Given the description of an element on the screen output the (x, y) to click on. 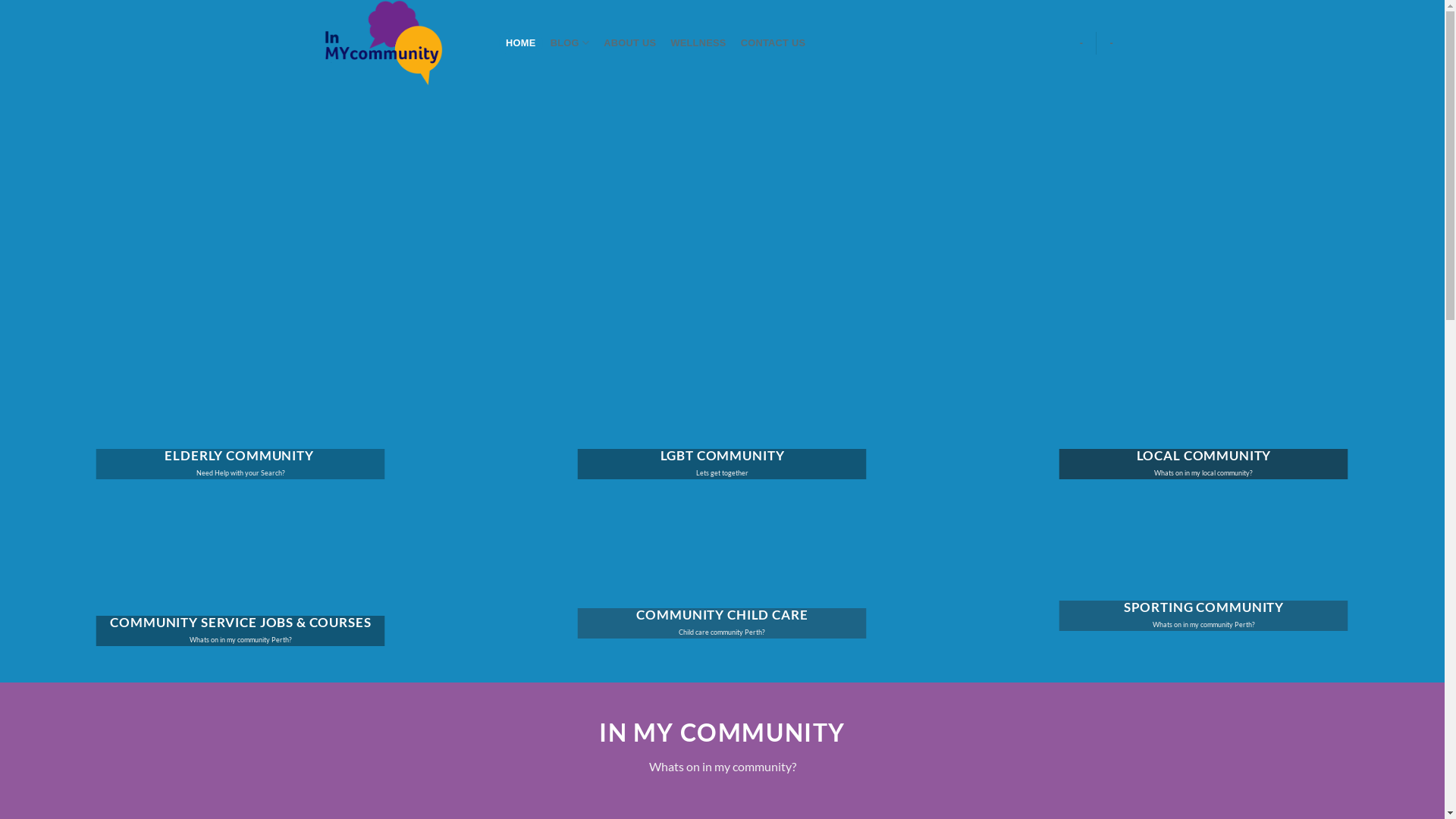
In My Community, Connecting Australia. - Community Directory Element type: hover (400, 42)
WELLNESS Element type: text (698, 42)
- Element type: text (1081, 42)
ABOUT US Element type: text (629, 42)
BLOG Element type: text (569, 42)
CONTACT US Element type: text (772, 42)
- Element type: text (1111, 42)
HOME Element type: text (520, 42)
